Given the description of an element on the screen output the (x, y) to click on. 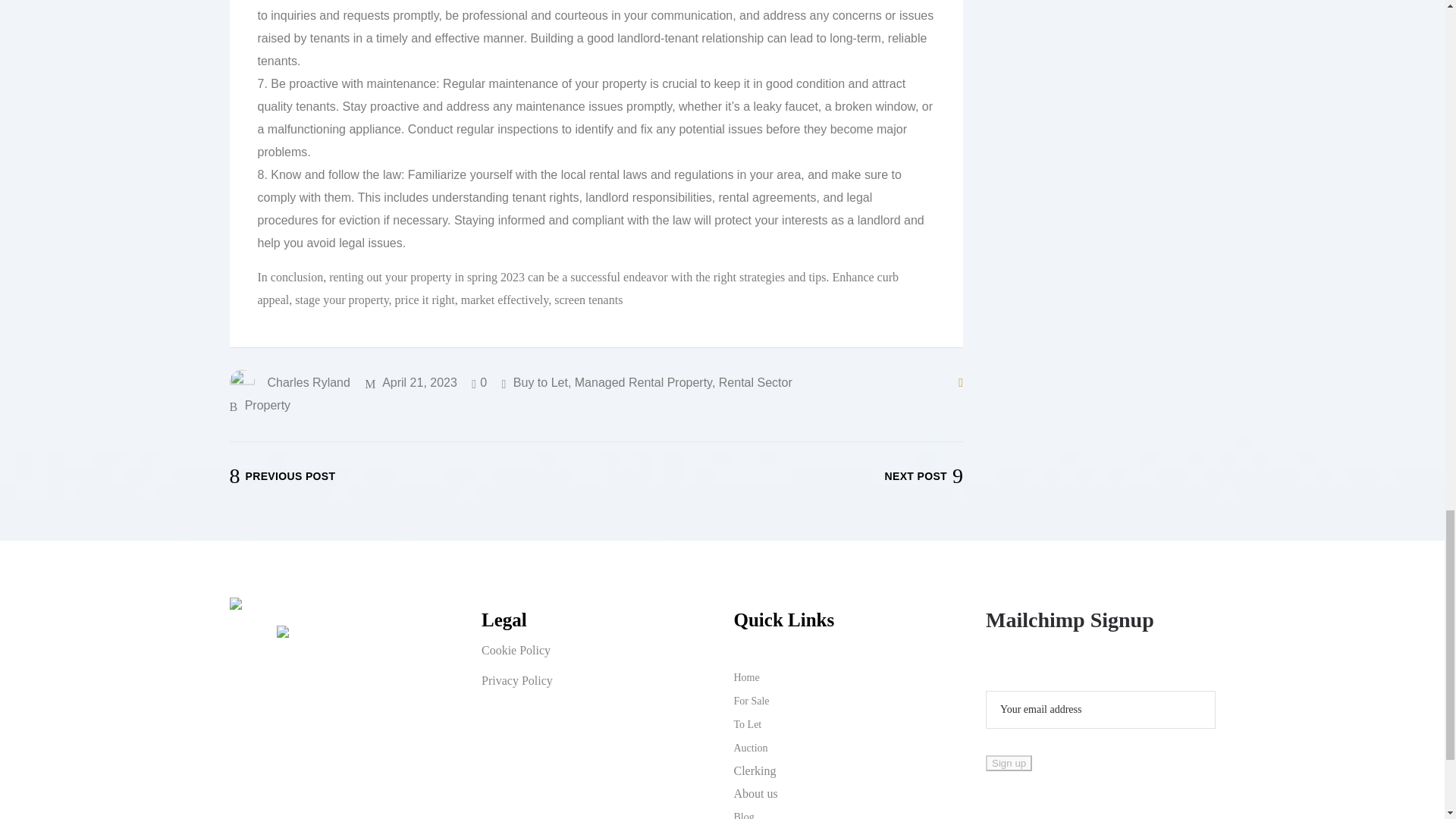
Like this (478, 382)
Buy to Let (540, 382)
0 (478, 382)
Charles Ryland (288, 382)
April 21, 2023 (411, 382)
Sign up (1008, 763)
